Given the description of an element on the screen output the (x, y) to click on. 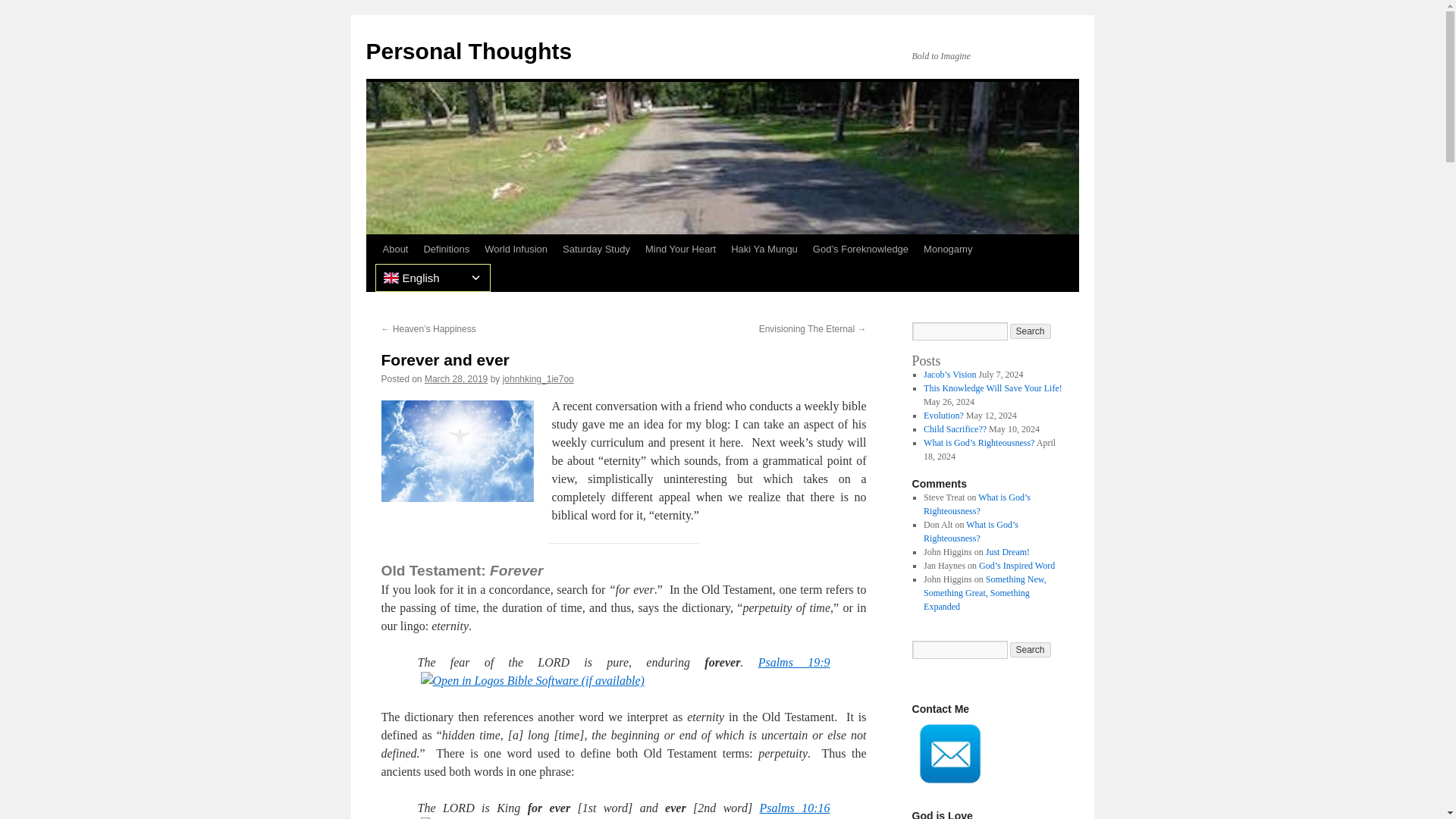
About (394, 249)
4:43 pm (456, 378)
Search (1030, 649)
Psalms 10:16 (794, 807)
Saturday Study (595, 249)
World Infusion (515, 249)
Psalms 19:9 (793, 662)
Definitions (445, 249)
Haki Ya Mungu (764, 249)
Mind Your Heart (680, 249)
Personal Thoughts (468, 50)
March 28, 2019 (456, 378)
Search (1030, 331)
Monogamy (947, 249)
